Given the description of an element on the screen output the (x, y) to click on. 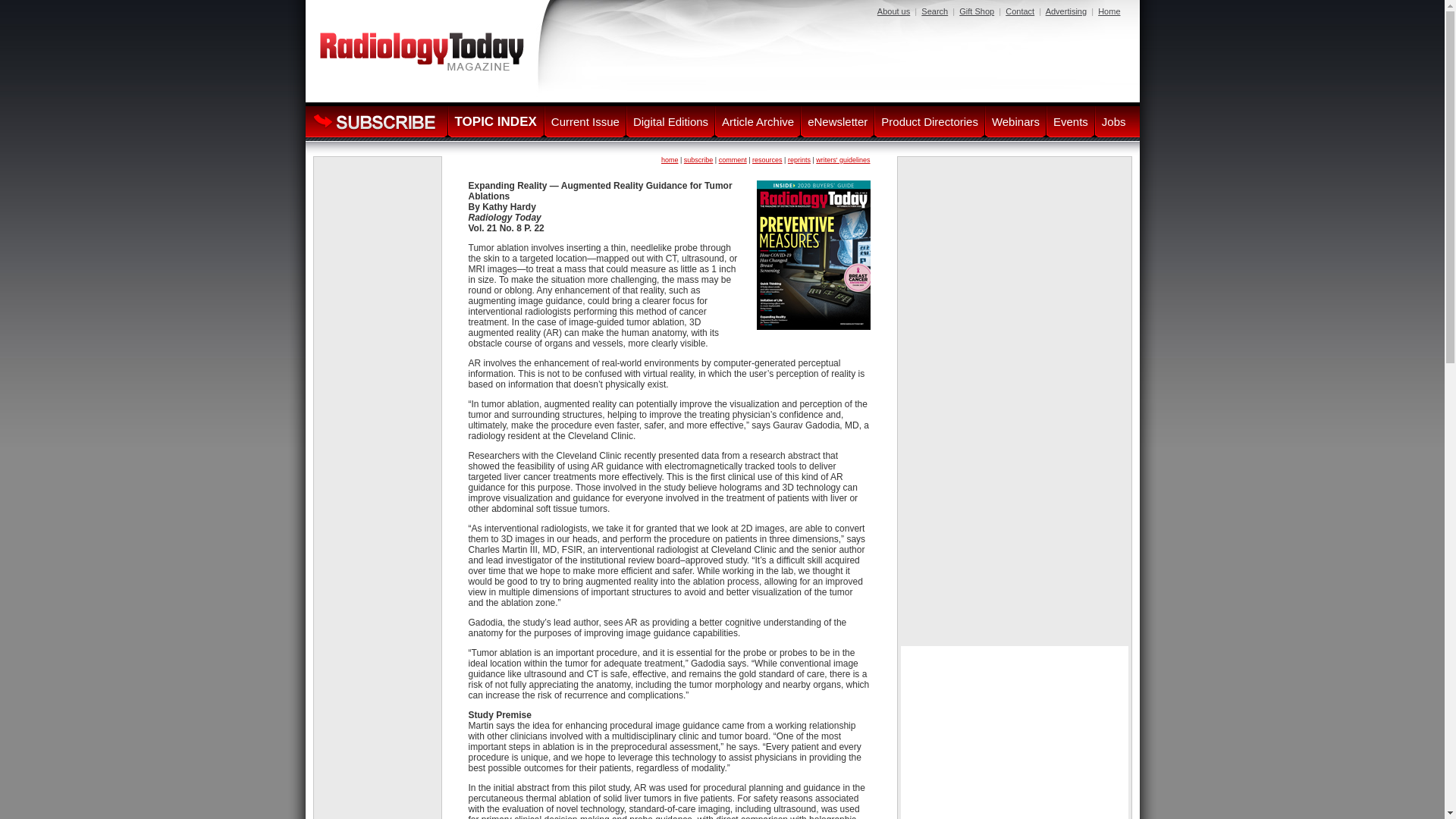
eNewsletter (837, 121)
home (669, 159)
TOPIC INDEX (494, 121)
About us (893, 10)
3rd party ad content (1014, 543)
Digital Editions (670, 121)
Jobs (1113, 121)
Current Issue (585, 121)
Webinars (1015, 121)
Advertising (1065, 10)
